Given the description of an element on the screen output the (x, y) to click on. 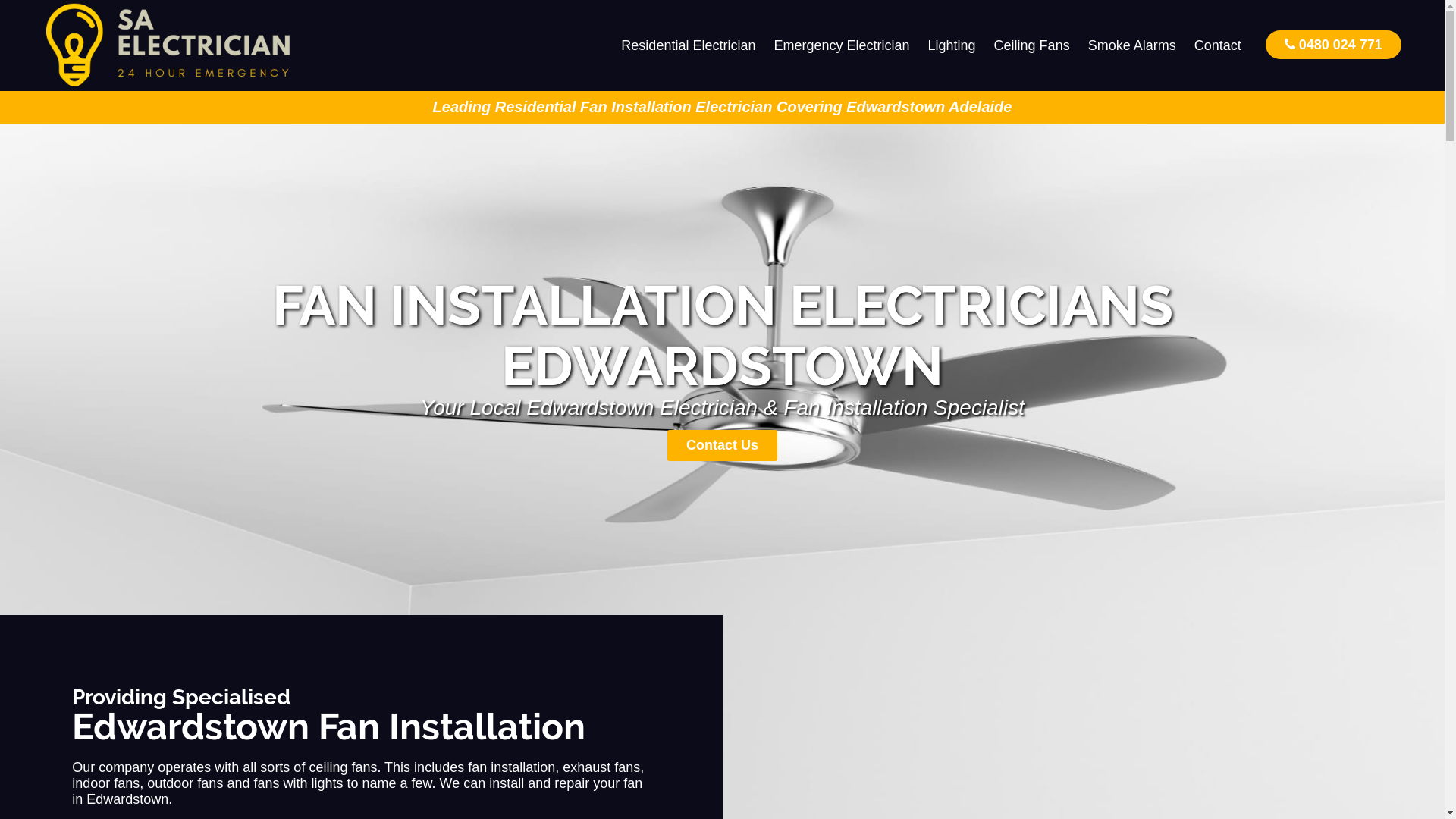
Ceiling Fans Element type: text (1032, 45)
Contact Element type: text (1217, 45)
0480 024 771 Element type: text (1333, 44)
Emergency Electrician Element type: text (841, 45)
Residential Electrician Element type: text (687, 45)
Smoke Alarms Element type: text (1132, 45)
Contact Us Element type: text (722, 445)
Lighting Element type: text (952, 45)
